Given the description of an element on the screen output the (x, y) to click on. 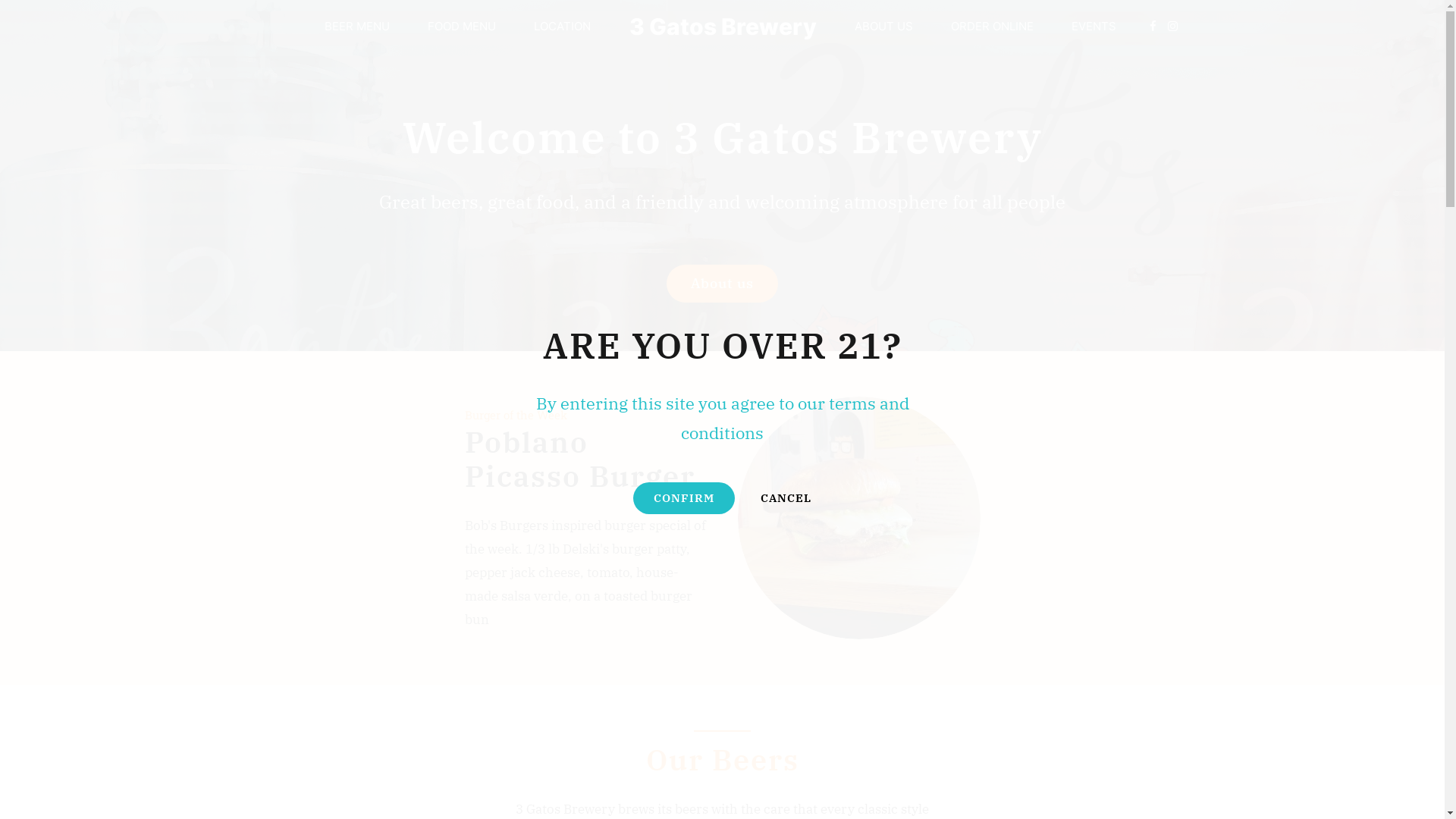
CANCEL Element type: text (785, 497)
CONFIRM Element type: text (683, 498)
3 Gatos Brewery Element type: text (722, 26)
EVENTS Element type: text (1092, 26)
ABOUT US Element type: text (882, 26)
20220907_170538 Element type: hover (858, 517)
BEER MENU Element type: text (356, 26)
About us Element type: text (722, 283)
LOCATION Element type: text (561, 26)
FOOD MENU Element type: text (461, 26)
ORDER ONLINE Element type: text (991, 26)
